Given the description of an element on the screen output the (x, y) to click on. 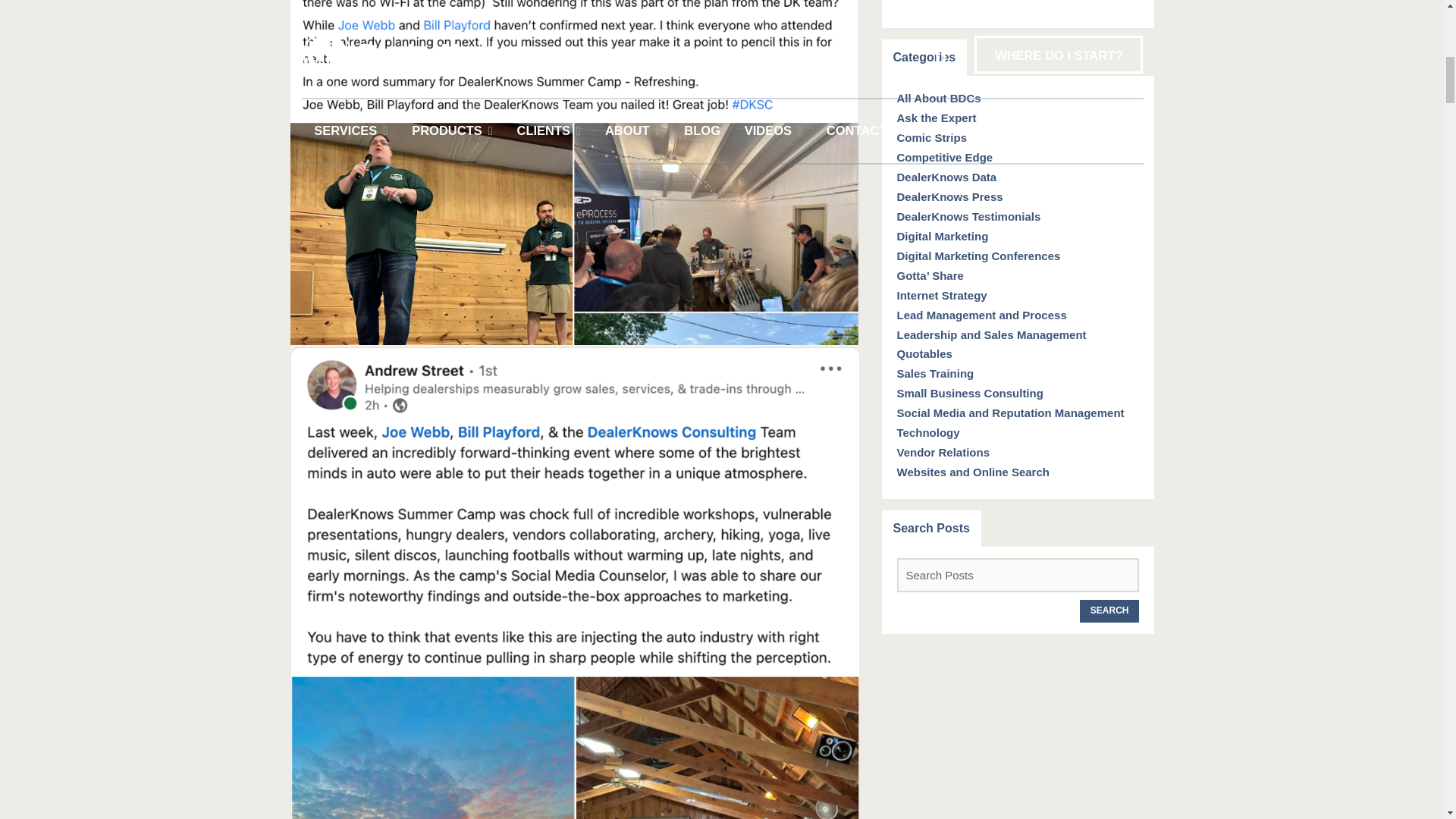
Search (1110, 610)
